Given the description of an element on the screen output the (x, y) to click on. 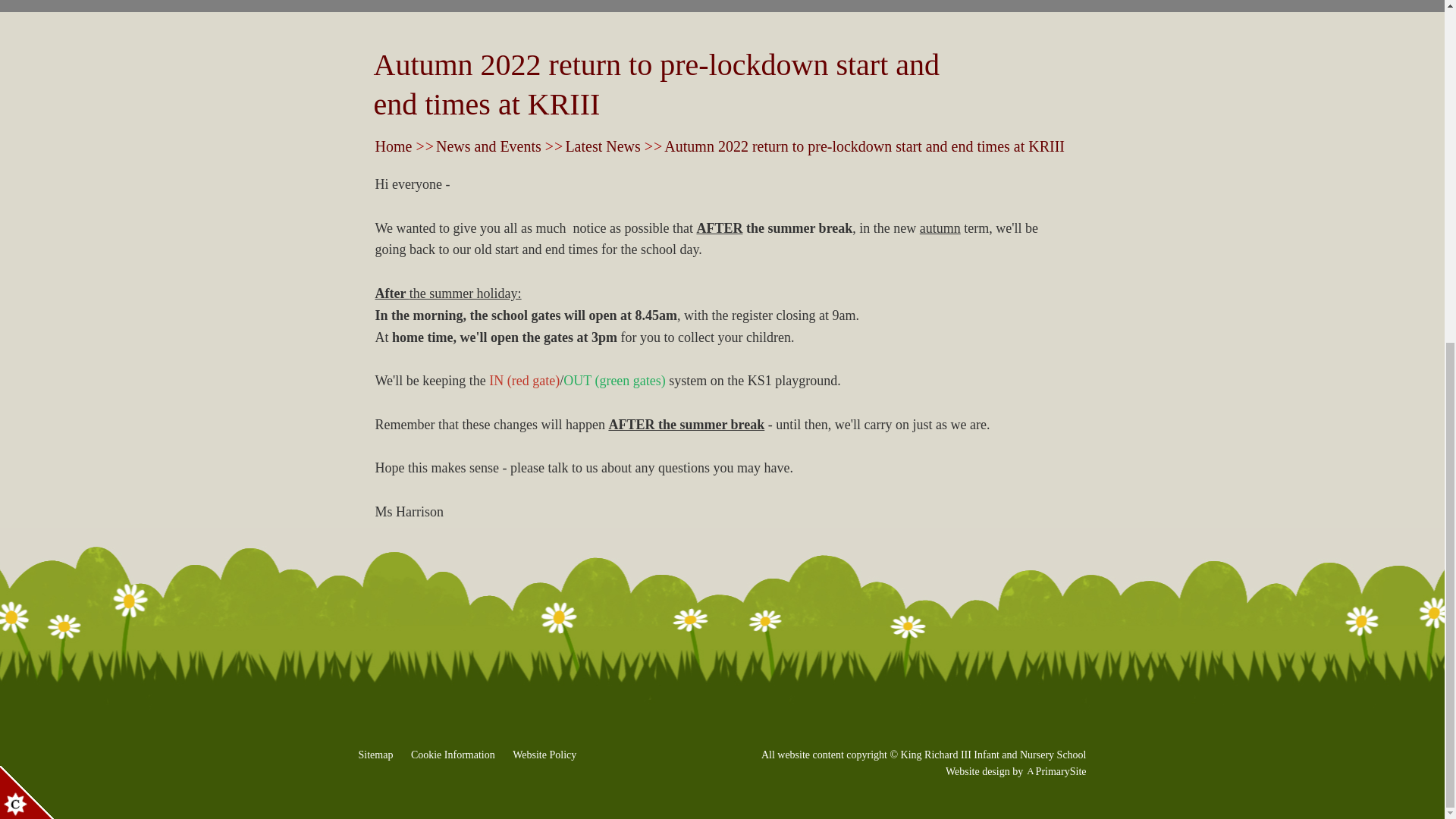
News and Events (488, 146)
Home (393, 146)
Latest News (602, 146)
